Given the description of an element on the screen output the (x, y) to click on. 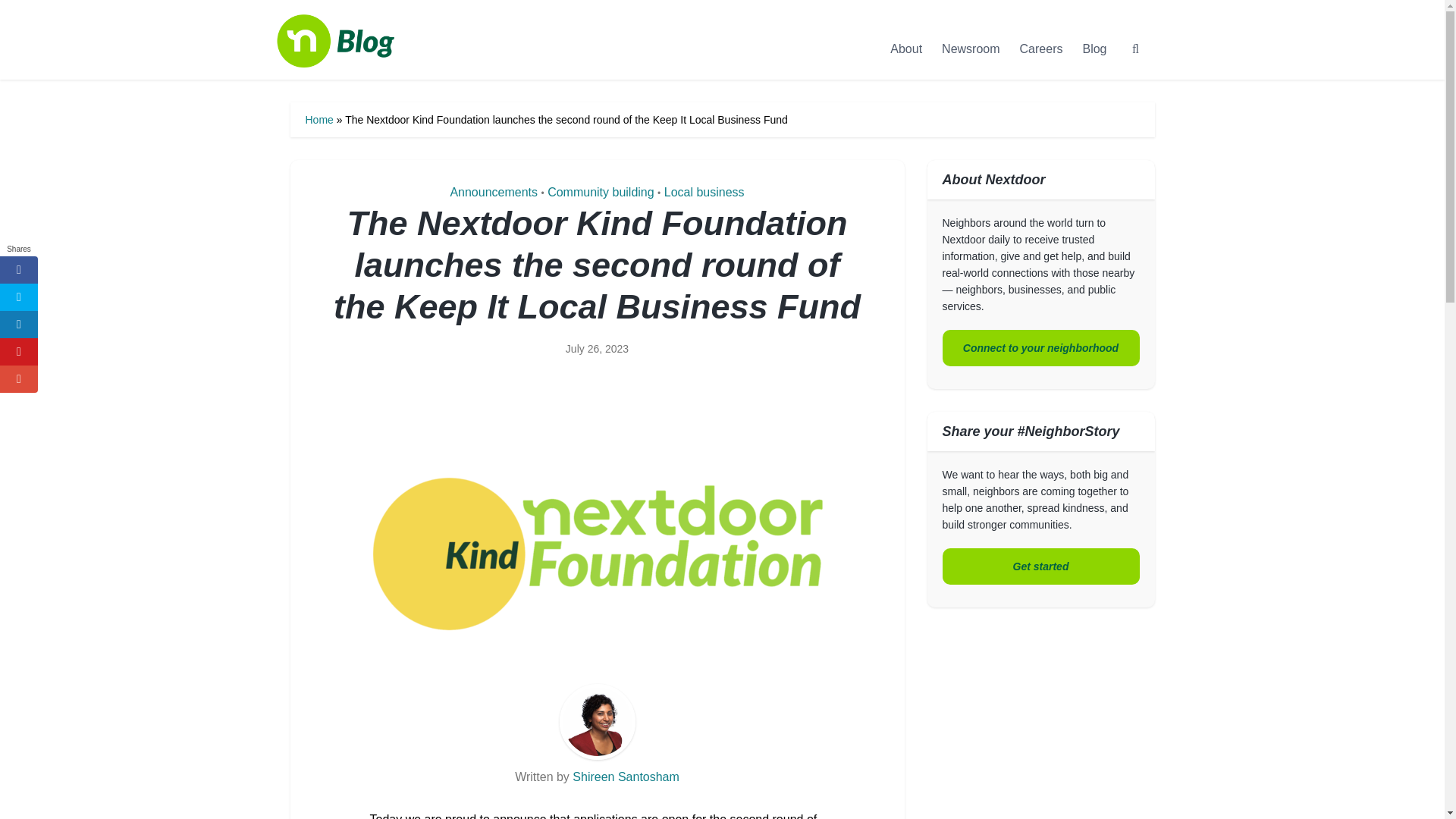
Get started (1040, 565)
Newsroom (970, 48)
Home (318, 119)
Local business (703, 192)
Announcements (493, 192)
Nextdoor Blog (349, 58)
Community building (600, 192)
About (905, 48)
Shireen Santosham (625, 776)
Connect to your neighborhood (1040, 348)
Blog (1093, 48)
Careers (1041, 48)
